Given the description of an element on the screen output the (x, y) to click on. 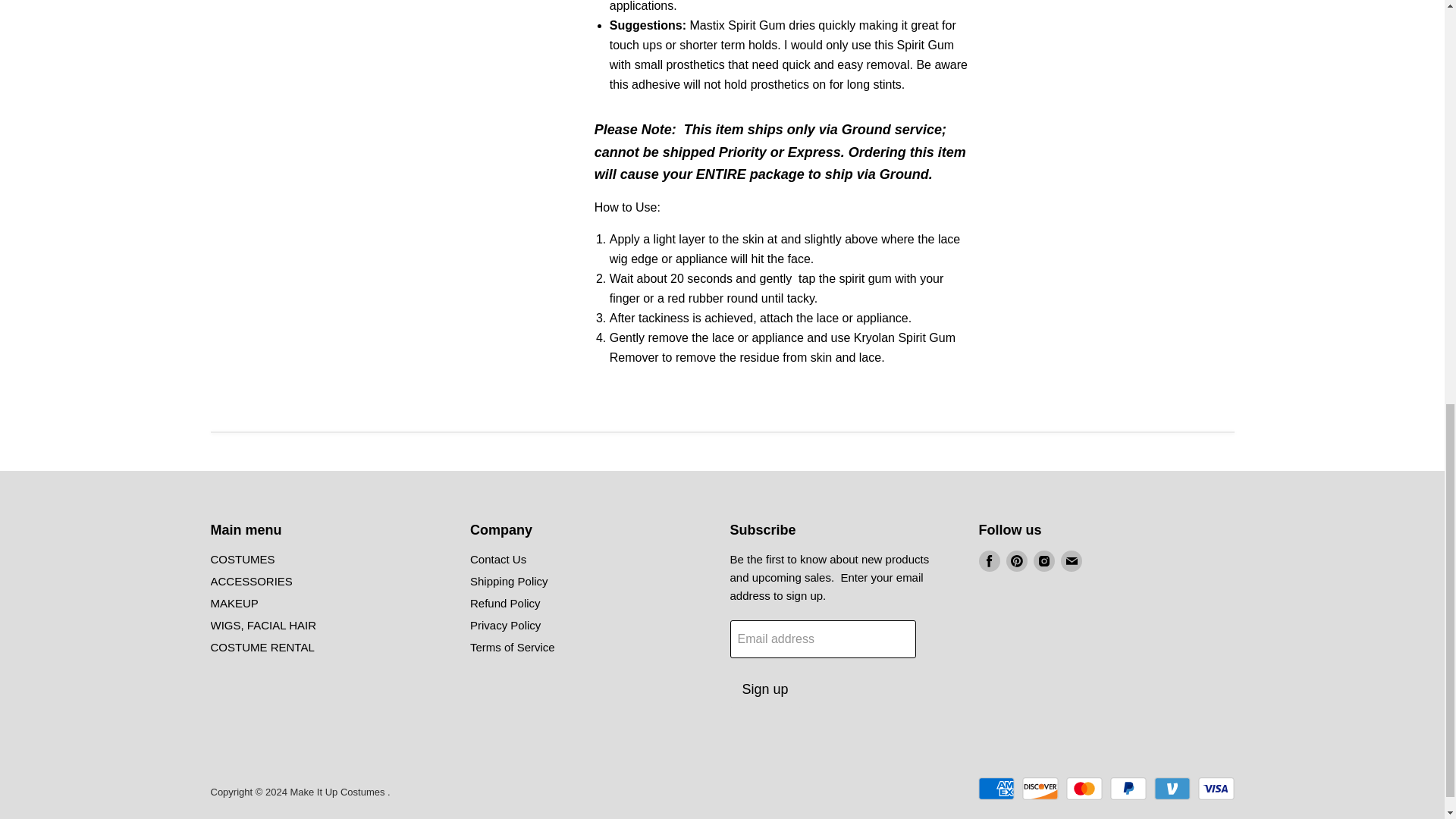
E-mail (1070, 560)
American Express (996, 788)
Pinterest (1016, 560)
Facebook (989, 560)
Instagram (1043, 560)
Mastercard (1083, 788)
Discover (1040, 788)
